Given the description of an element on the screen output the (x, y) to click on. 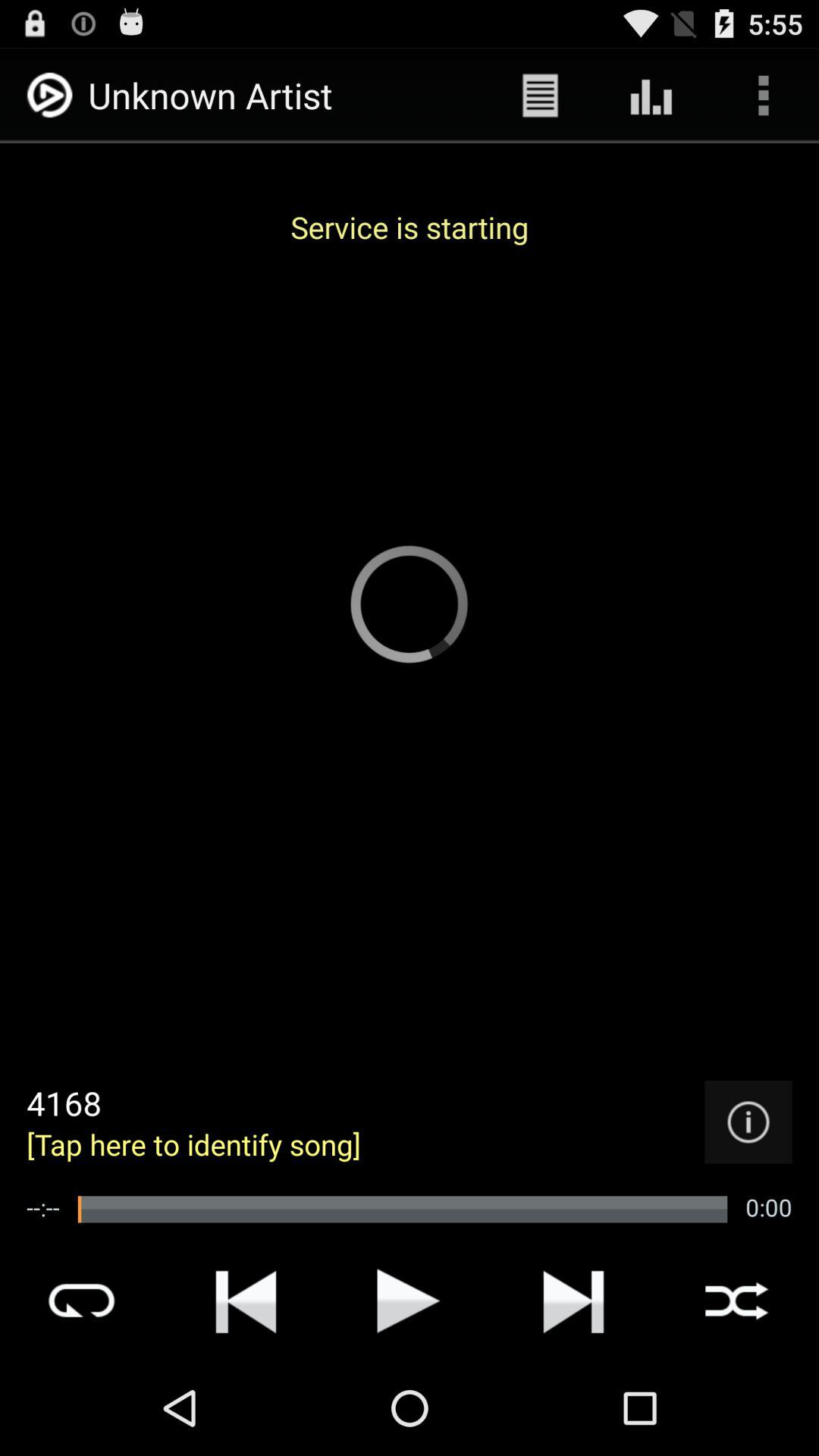
select item above the 0:00 app (748, 1121)
